Given the description of an element on the screen output the (x, y) to click on. 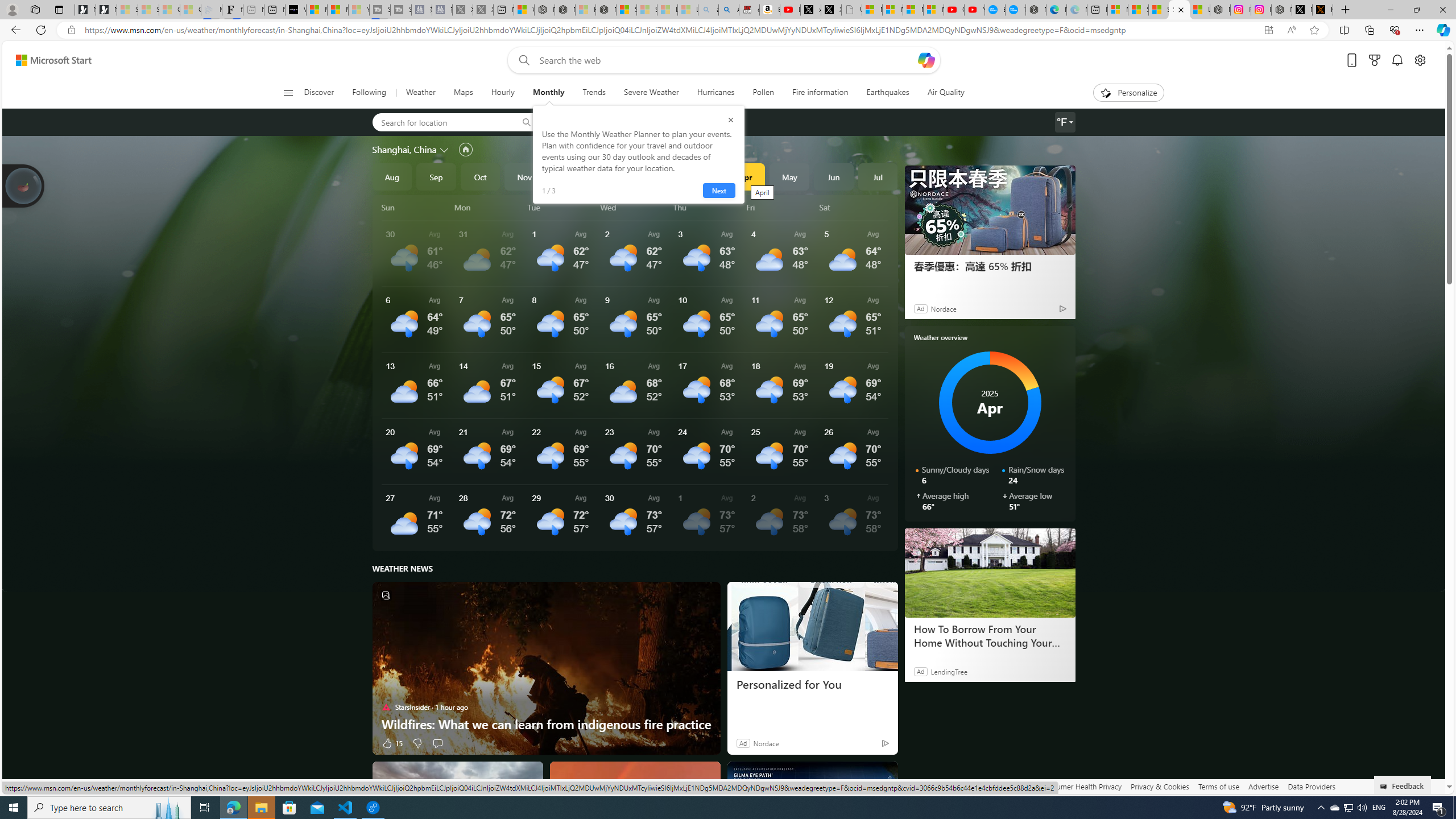
Nordace - Nordace Siena Is Not An Ordinary Backpack (606, 9)
Data Providers (1311, 785)
Newsletter Sign Up (106, 9)
Streaming Coverage | T3 - Sleeping (379, 9)
Nordace - Summer Adventures 2024 (1281, 9)
Terms of use (1218, 786)
Trends (593, 92)
Microsoft Start Sports (316, 9)
